Given the description of an element on the screen output the (x, y) to click on. 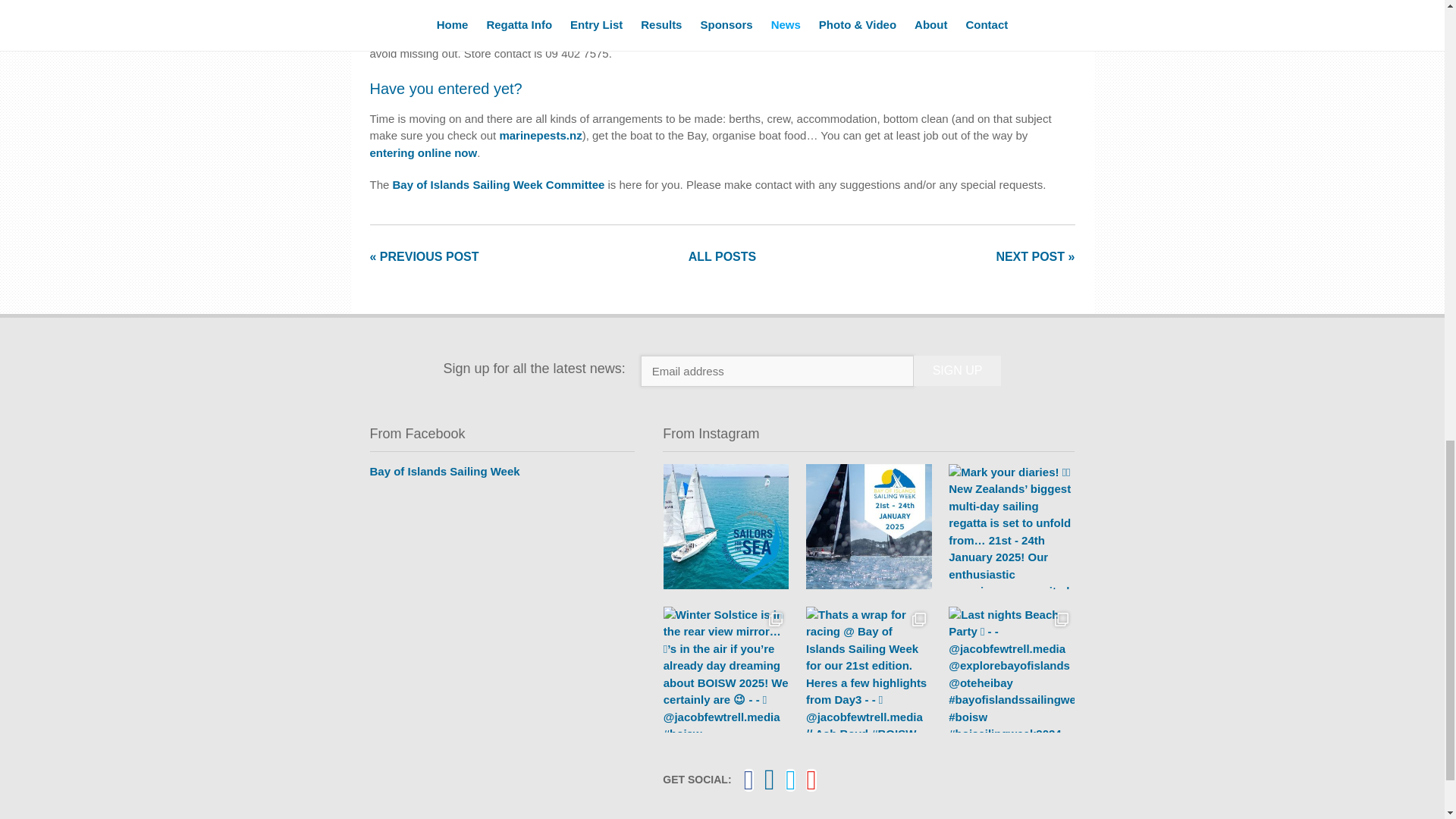
Sign up (957, 370)
